Given the description of an element on the screen output the (x, y) to click on. 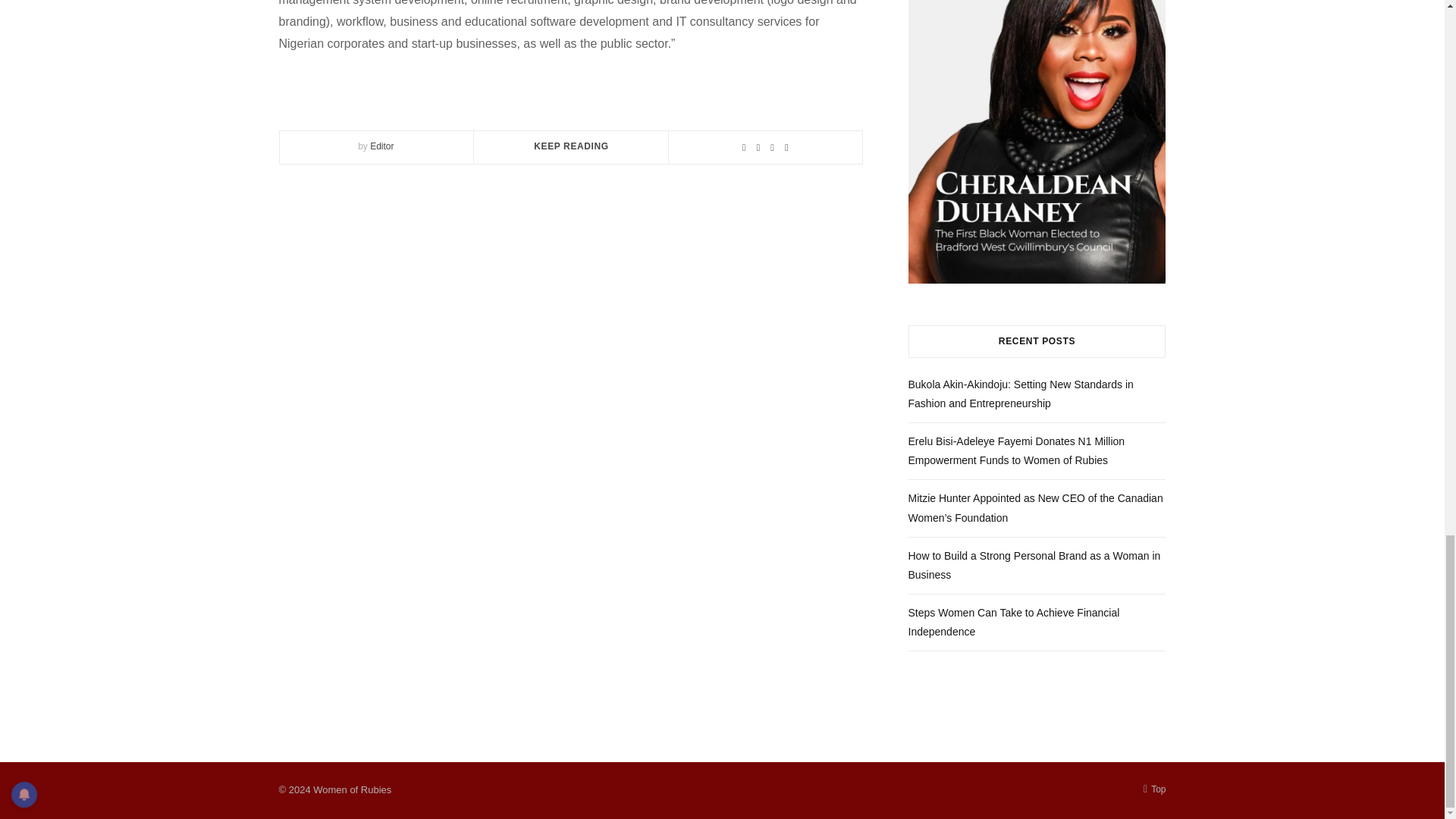
How to Build a Strong Personal Brand as a Woman in Business (1034, 564)
Posts by Editor (381, 145)
Editor (381, 145)
Top (1154, 789)
KEEP READING (571, 145)
Steps Women Can Take to Achieve Financial Independence (1013, 622)
